Given the description of an element on the screen output the (x, y) to click on. 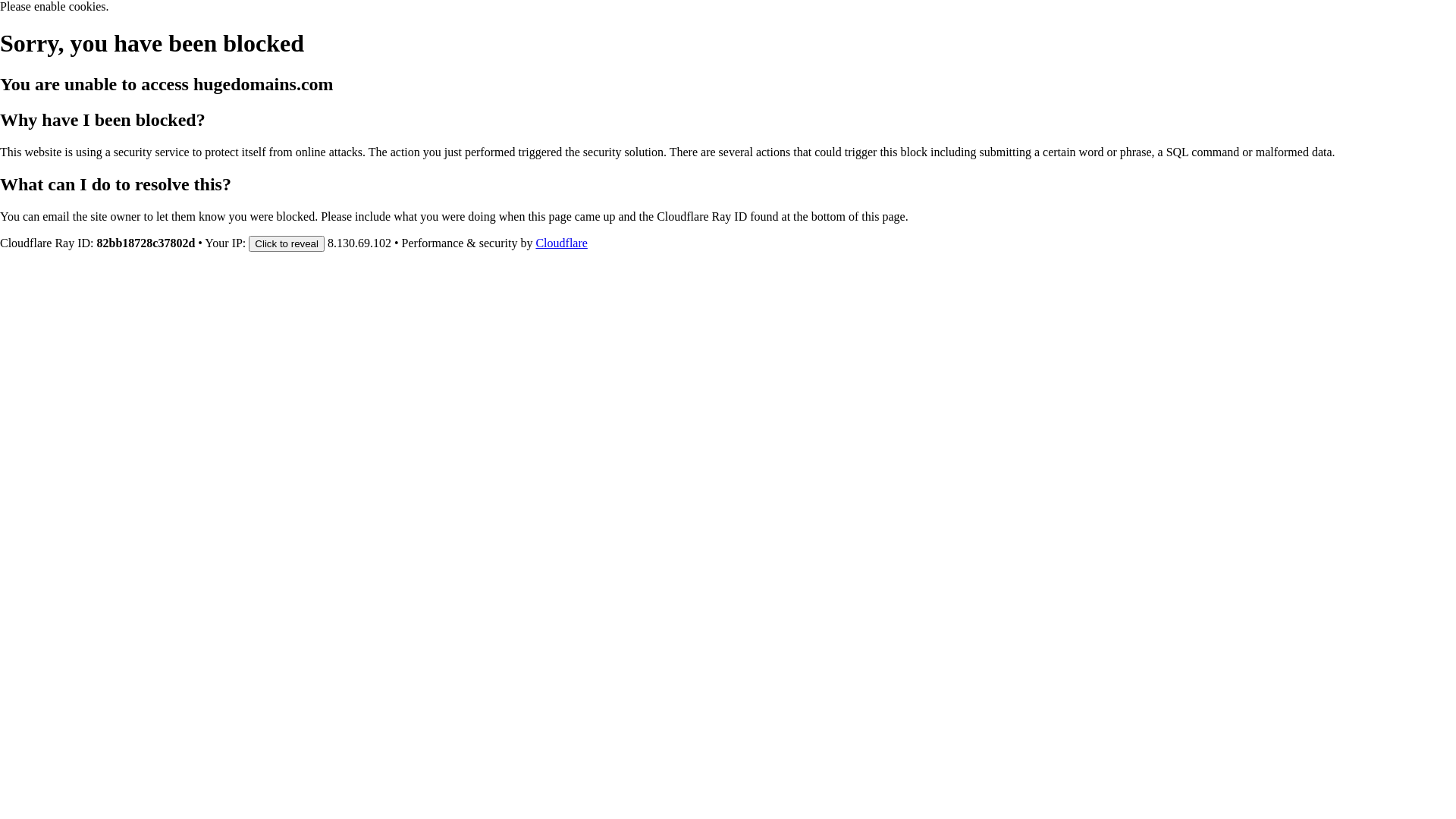
Cloudflare Element type: text (560, 242)
Click to reveal Element type: text (286, 243)
